Given the description of an element on the screen output the (x, y) to click on. 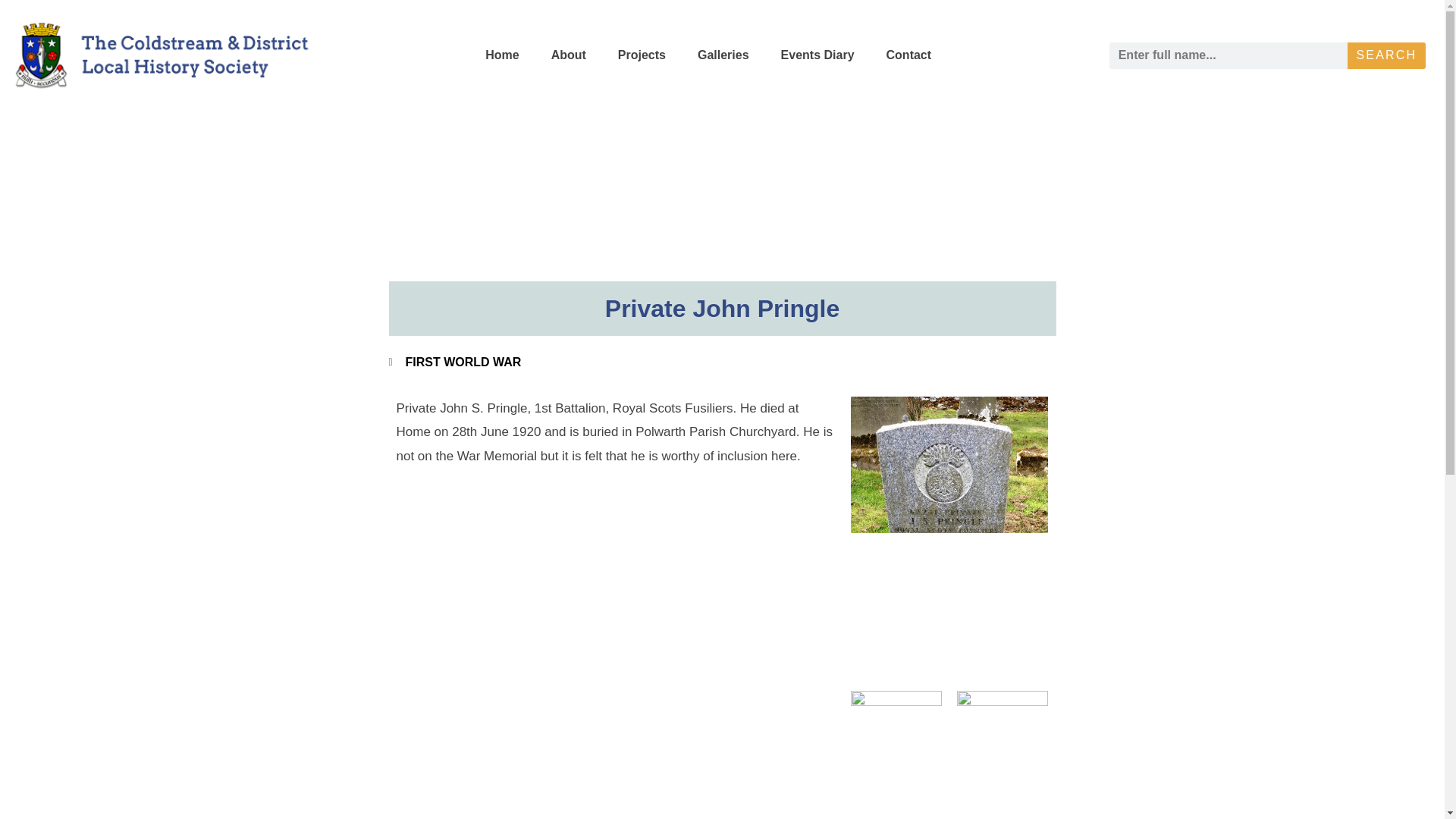
SEARCH (1386, 55)
Contact (908, 54)
Galleries (723, 54)
About (568, 54)
Home (502, 54)
Events Diary (817, 54)
Projects (641, 54)
